Given the description of an element on the screen output the (x, y) to click on. 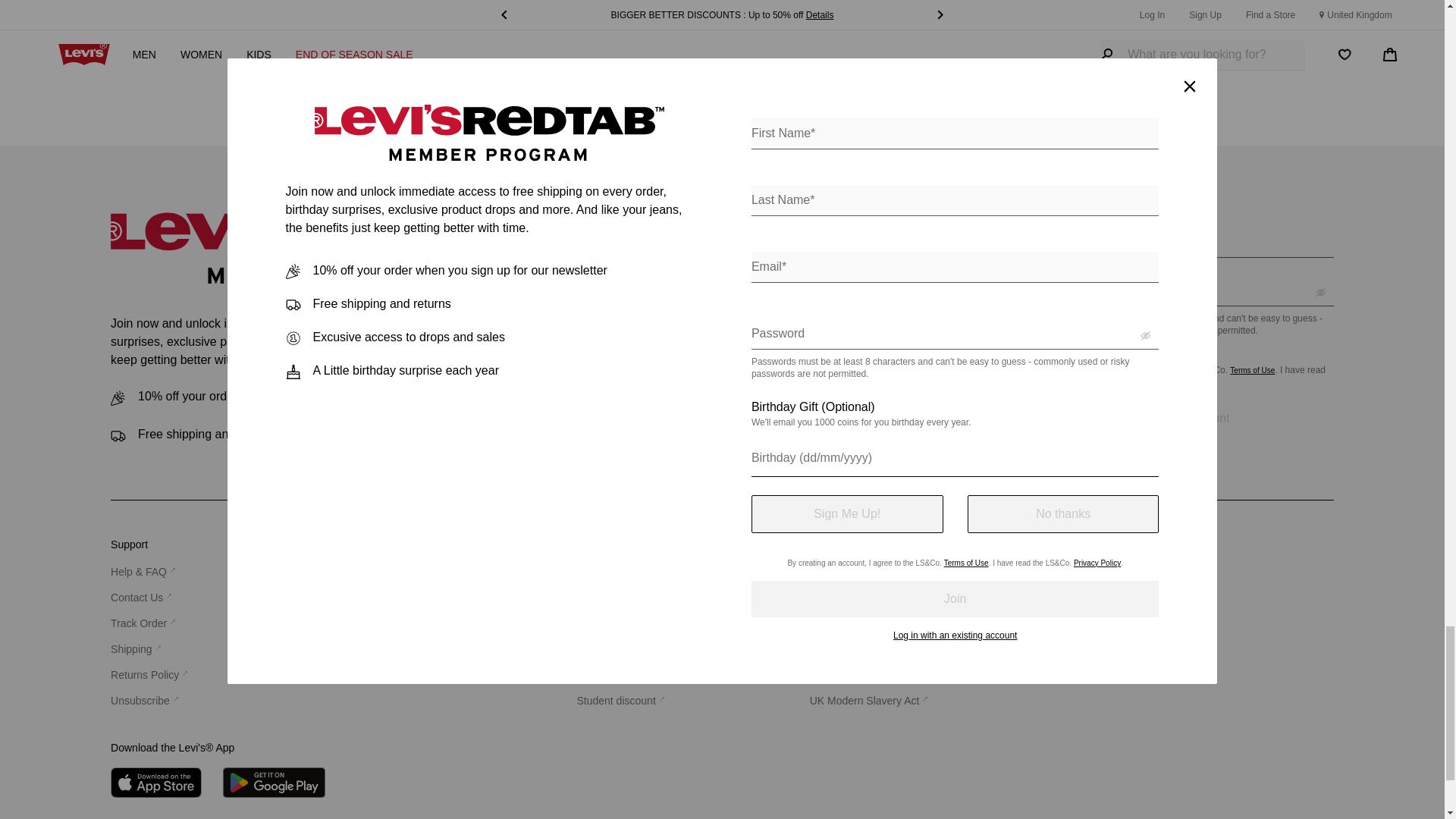
iOS App Store Download (156, 782)
Google Play Download (273, 782)
